Given the description of an element on the screen output the (x, y) to click on. 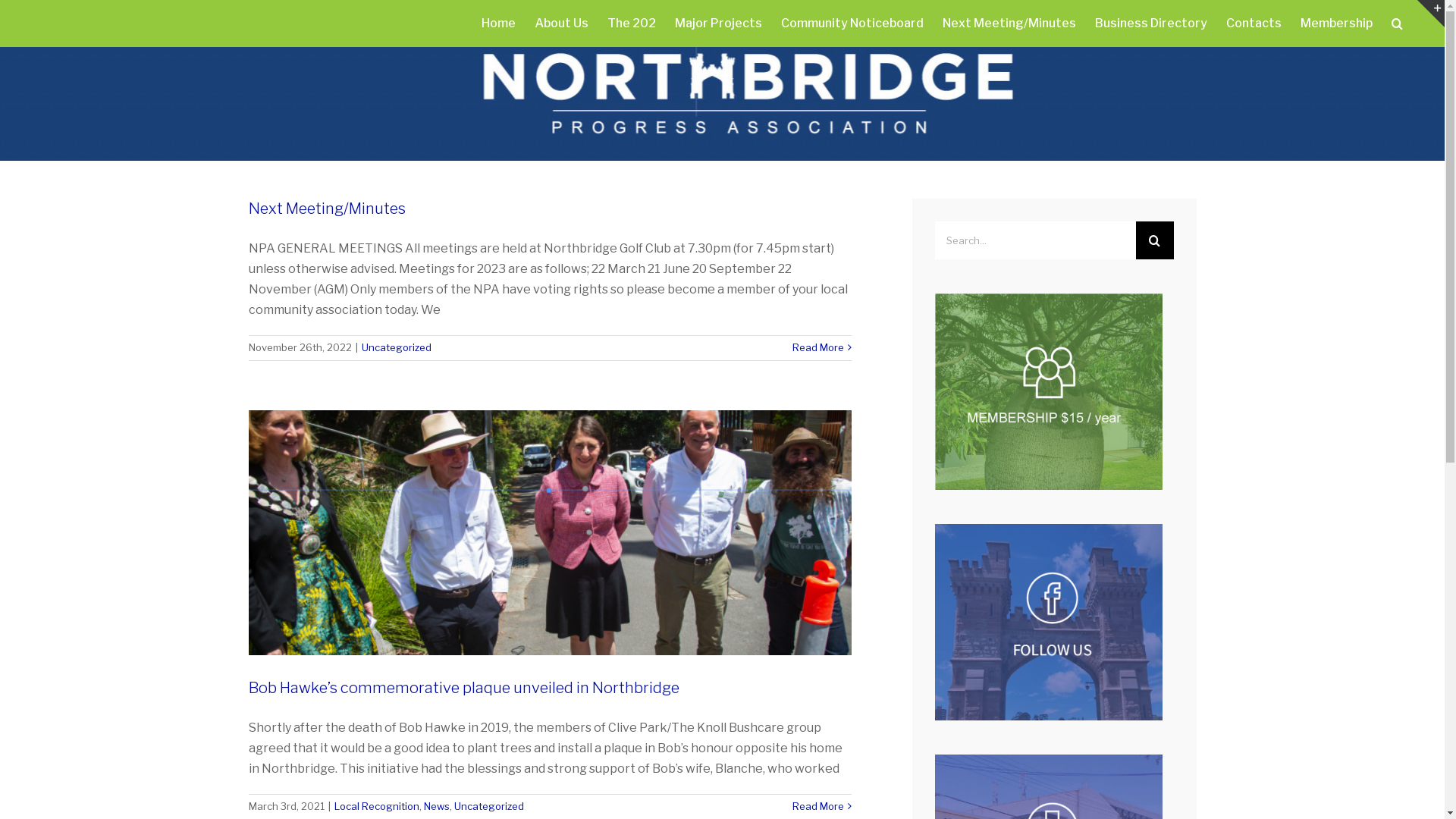
Search Element type: hover (1396, 23)
Membership Element type: text (1336, 23)
Toggle Sliding Bar Area Element type: text (1430, 13)
Next Meeting/Minutes Element type: text (326, 208)
Business Directory Element type: text (1151, 23)
Uncategorized Element type: text (395, 347)
About Us Element type: text (561, 23)
Contacts Element type: text (1253, 23)
Read More Element type: text (817, 806)
Home Element type: text (498, 23)
Next Meeting/Minutes Element type: text (1009, 23)
Read More Element type: text (817, 347)
Community Noticeboard Element type: text (852, 23)
Local Recognition Element type: text (375, 806)
Uncategorized Element type: text (488, 806)
The 202 Element type: text (631, 23)
Major Projects Element type: text (718, 23)
News Element type: text (435, 806)
